Given the description of an element on the screen output the (x, y) to click on. 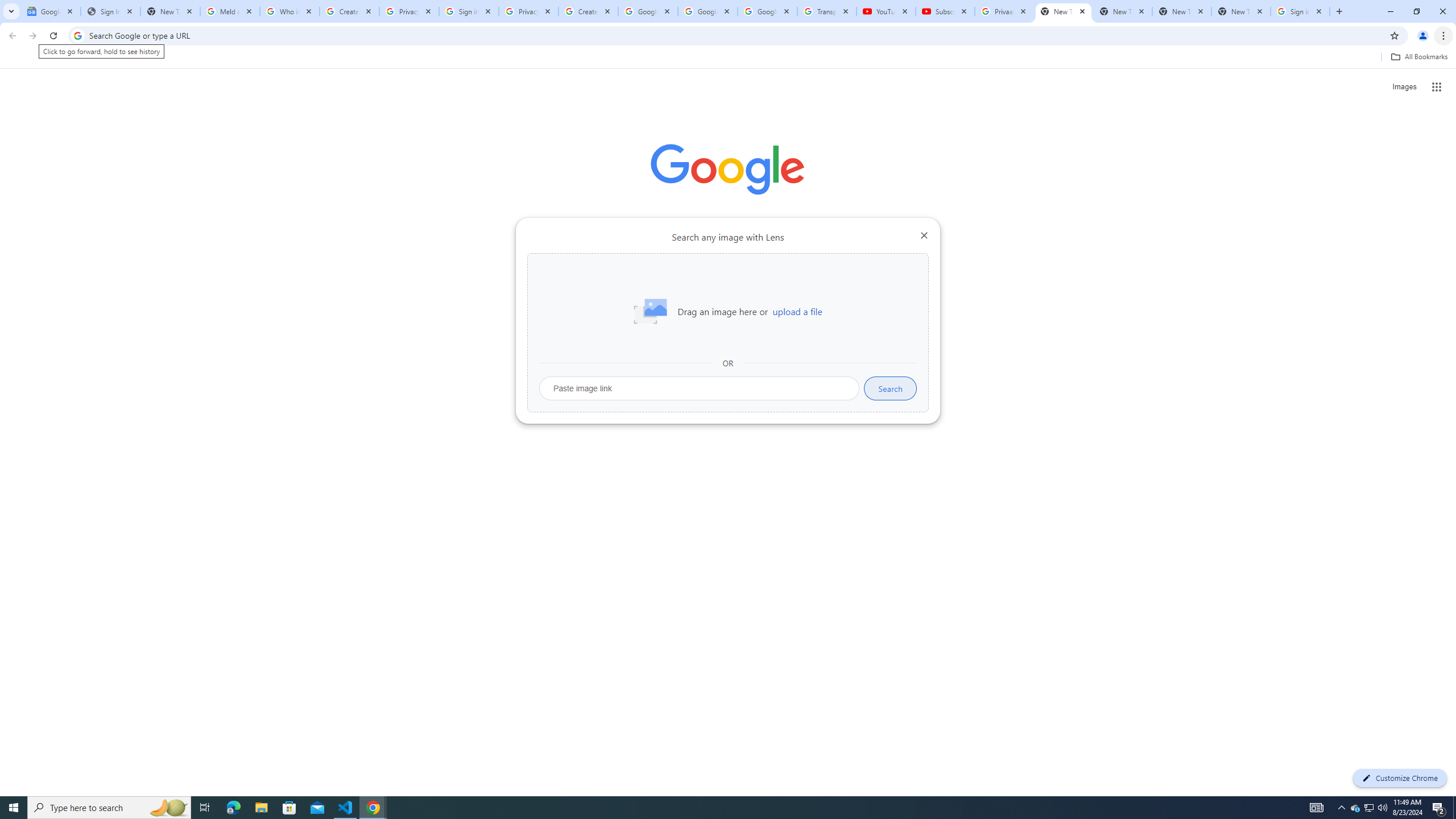
Create your Google Account (588, 11)
Create your Google Account (349, 11)
Subscriptions - YouTube (944, 11)
Google News (50, 11)
Google Account (767, 11)
Who is my administrator? - Google Account Help (289, 11)
